Given the description of an element on the screen output the (x, y) to click on. 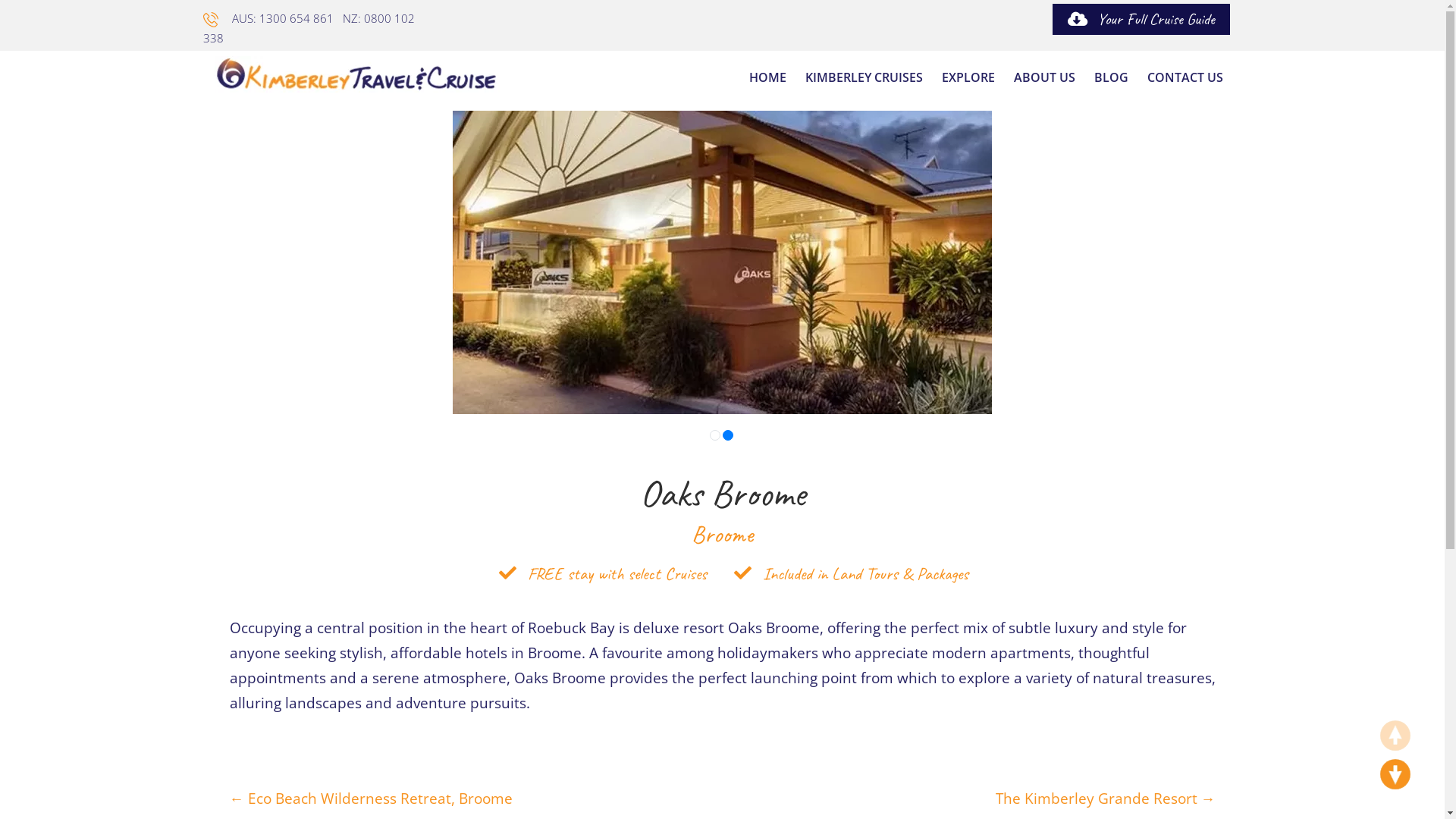
ABOUT US Element type: text (1043, 77)
0800 102 338 Element type: text (308, 27)
Oaks-Broome Element type: hover (721, 262)
1 Element type: text (714, 434)
Your Full Cruise Guide Element type: text (1141, 18)
BLOG Element type: text (1110, 77)
1300 654 861 Element type: text (296, 17)
HOME Element type: text (767, 77)
Kimberley Trave & Cruise logo slim Element type: hover (355, 74)
EXPLORE Element type: text (968, 77)
UP Element type: text (1395, 735)
CONTACT US Element type: text (1184, 77)
KIMBERLEY CRUISES Element type: text (863, 77)
2 Element type: text (727, 434)
DOWN Element type: text (1395, 774)
